Given the description of an element on the screen output the (x, y) to click on. 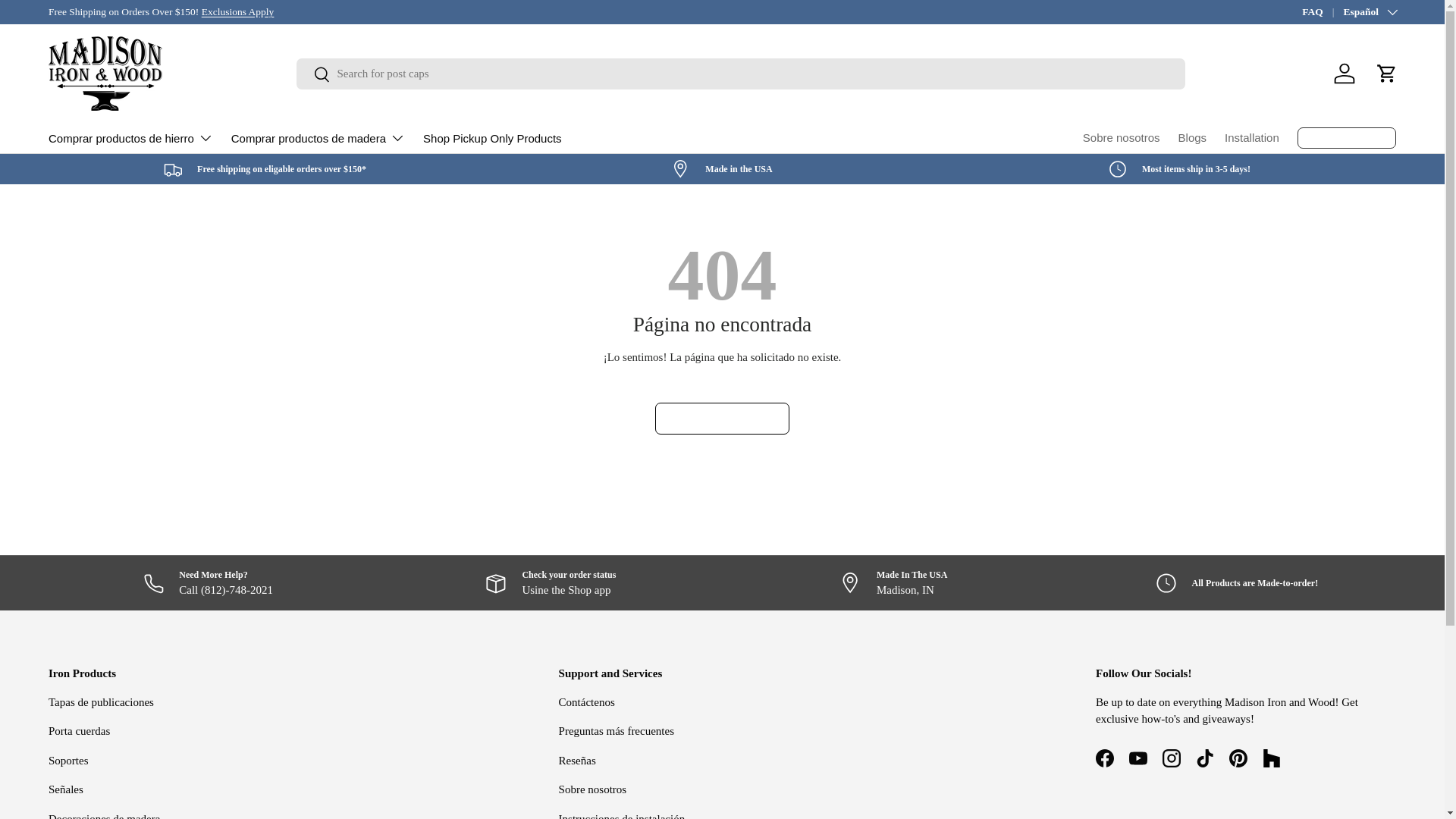
Comprar productos de hierro (130, 137)
Madison Iron and Wood en Instagram (1171, 758)
FAQ (1321, 11)
Madison Iron and Wood en YouTube (1137, 758)
Carrito (1386, 73)
Madison Iron and Wood en TikTok (1204, 758)
Shipping and Return Policies (238, 11)
Madison Iron and Wood en Pinterest (1238, 758)
IR AL CONTENIDO (68, 21)
Madison Iron and Wood en Facebook (1104, 758)
Buscar (312, 75)
Exclusions Apply (238, 11)
